Given the description of an element on the screen output the (x, y) to click on. 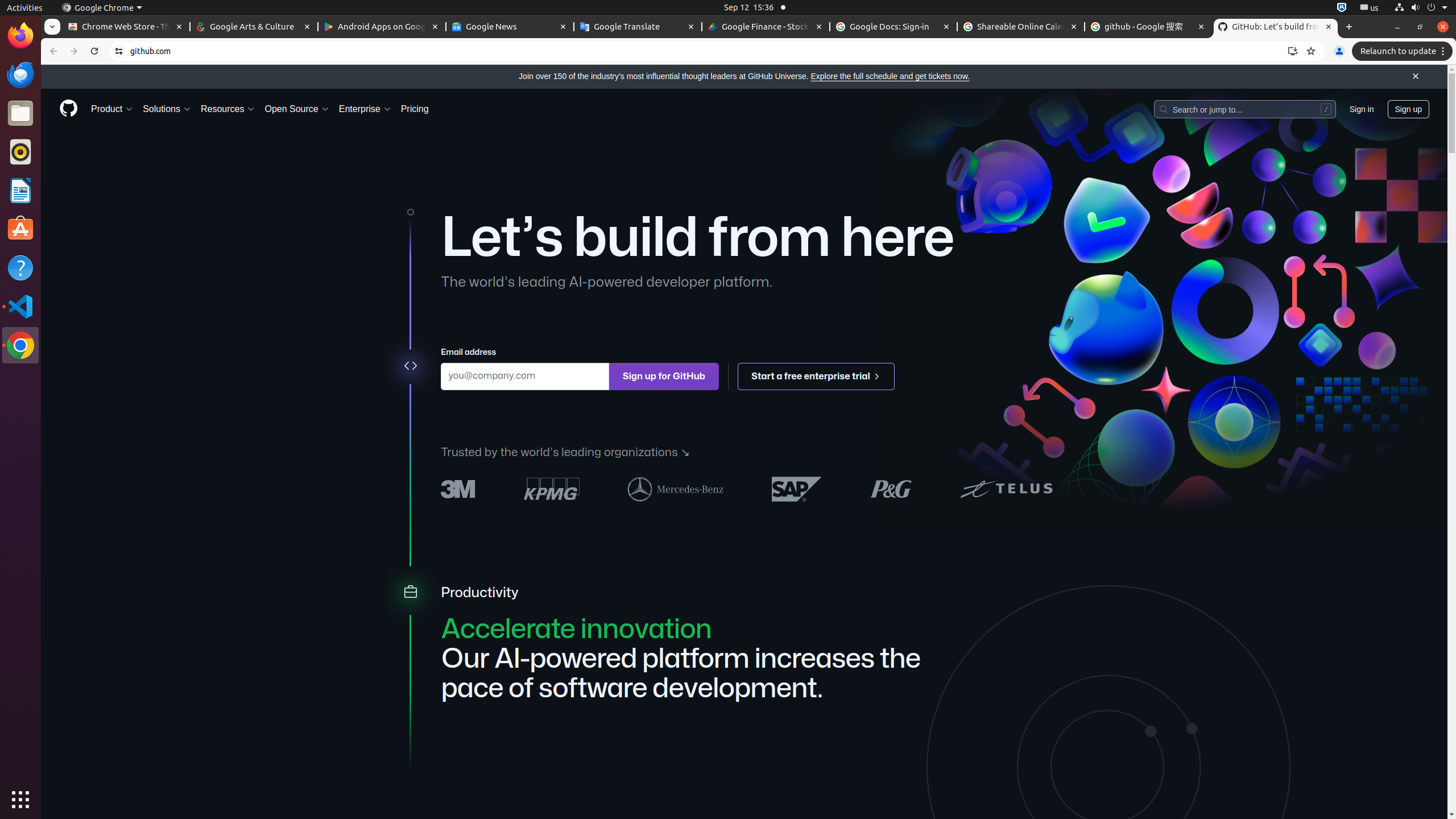
Files Element type: push-button (20, 113)
github - Google 搜索 - Memory usage - 112 MB Element type: page-tab (1148, 26)
Close Element type: push-button (1415, 76)
Sign up for GitHub Element type: push-button (663, 376)
Google News - Memory usage - 51.2 MB Element type: page-tab (509, 26)
